Given the description of an element on the screen output the (x, y) to click on. 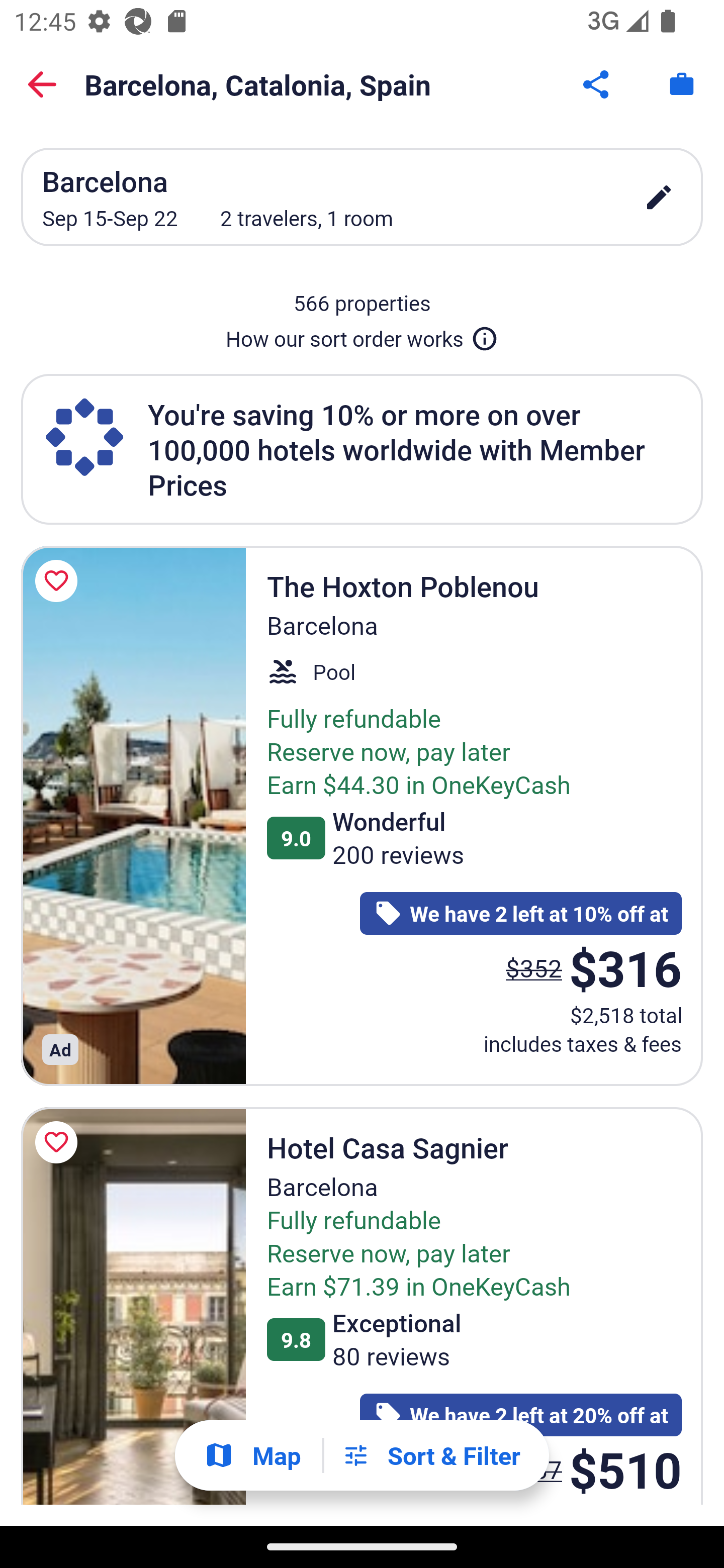
Back (42, 84)
Share Button (597, 84)
Trips. Button (681, 84)
Barcelona Sep 15-Sep 22 2 travelers, 1 room edit (361, 196)
How our sort order works (361, 334)
Save The Hoxton Poblenou to a trip (59, 580)
The Hoxton Poblenou (133, 815)
$352 The price was $352 (533, 967)
Save Hotel Casa Sagnier to a trip (59, 1141)
Hotel Casa Sagnier (133, 1306)
Filters Sort & Filter Filters Button (430, 1455)
Show map Map Show map Button (252, 1455)
